Given the description of an element on the screen output the (x, y) to click on. 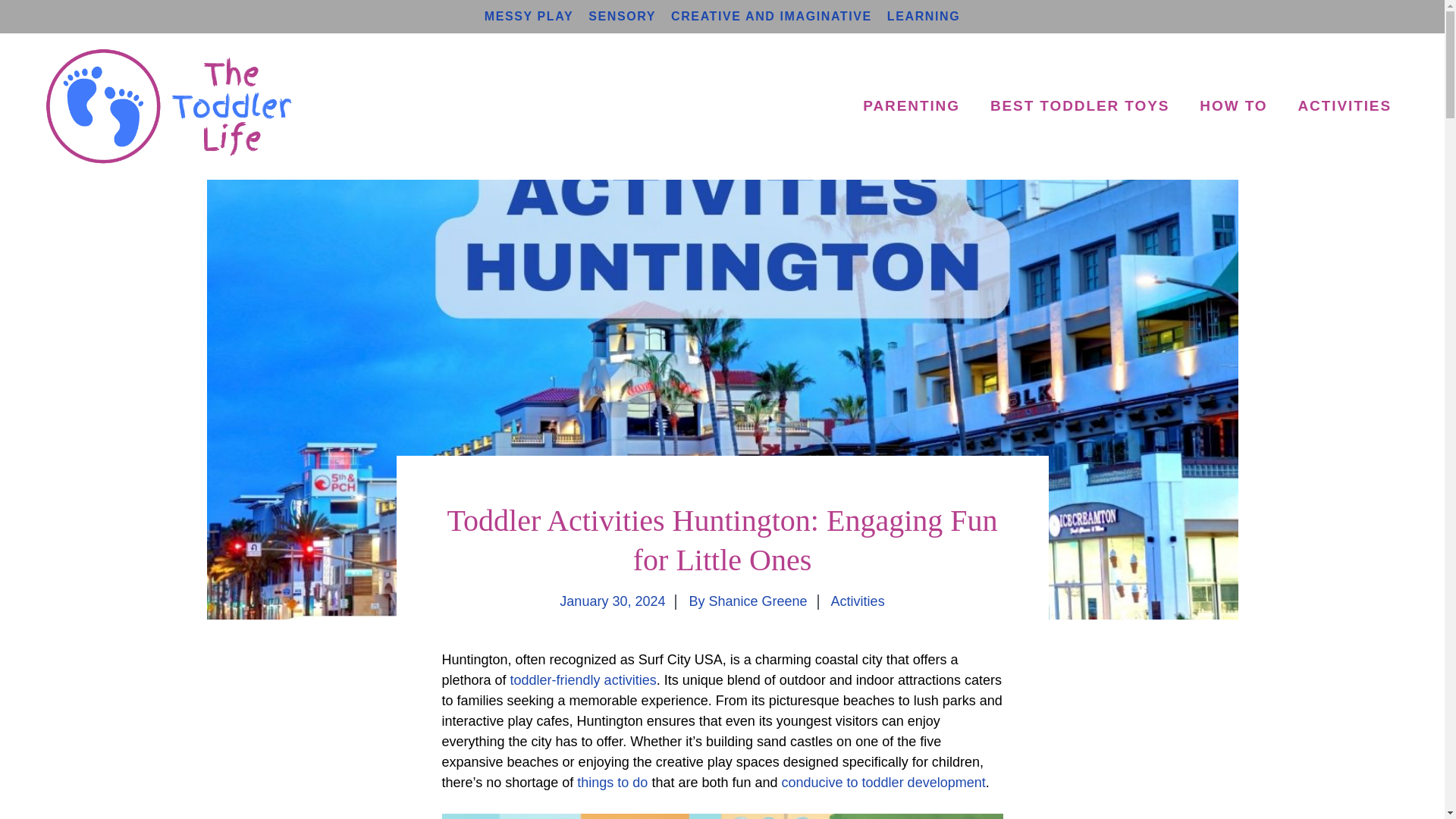
CREATIVE AND IMAGINATIVE (771, 15)
BEST TODDLER TOYS (1080, 105)
ACTIVITIES (1344, 105)
LEARNING (922, 15)
MESSY PLAY (528, 15)
PARENTING (911, 105)
Activities (858, 601)
things to do (611, 782)
conducive to toddler development (883, 782)
Shanice Greene (756, 601)
